Given the description of an element on the screen output the (x, y) to click on. 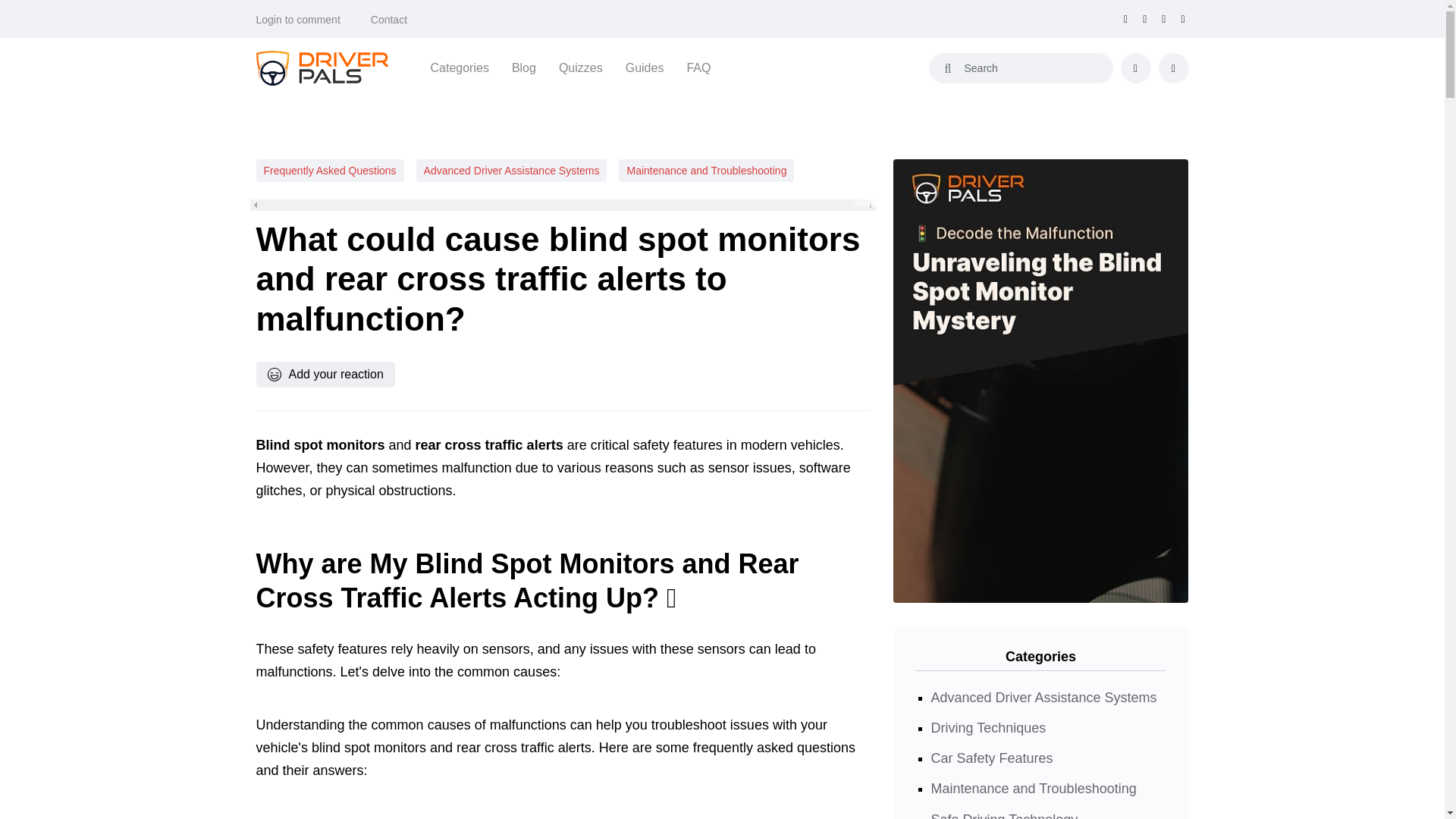
Contact (389, 19)
Categories (459, 67)
Login to comment (298, 19)
